Given the description of an element on the screen output the (x, y) to click on. 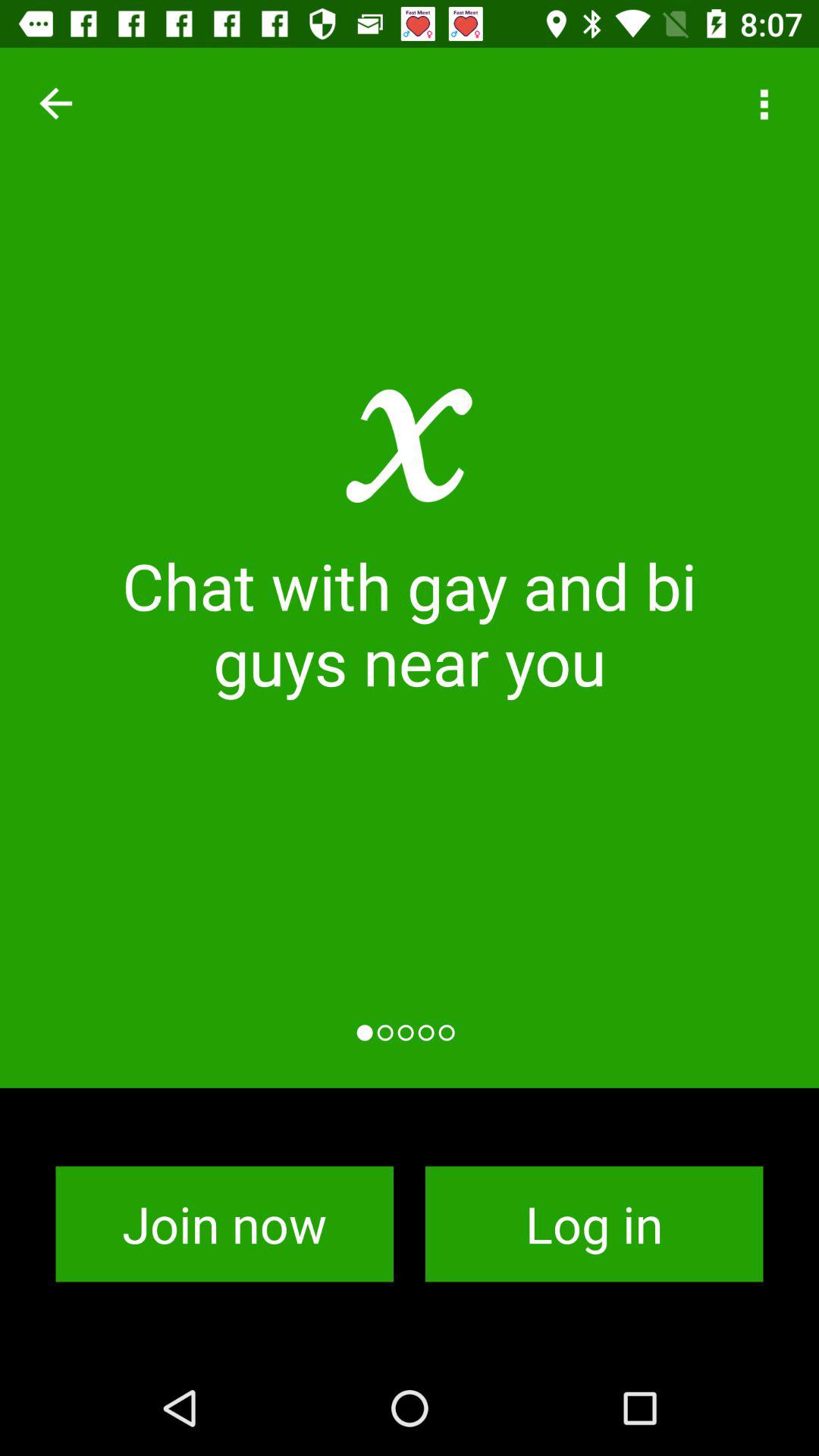
go to back (55, 103)
